Given the description of an element on the screen output the (x, y) to click on. 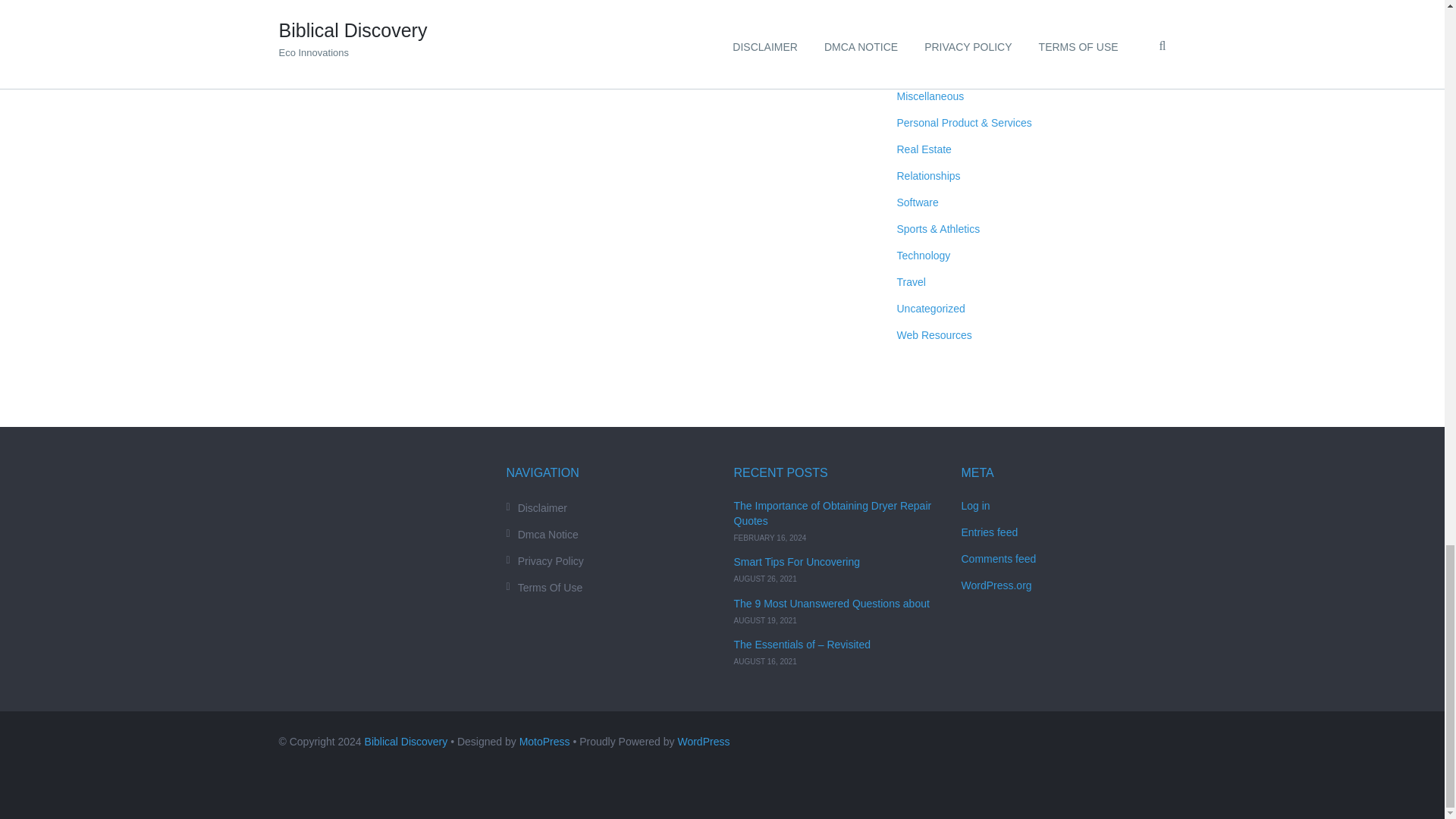
Premium WordPress Plugins and Themes (544, 741)
Semantic Personal Publishing Platform (703, 741)
Biblical Discovery (406, 741)
